Given the description of an element on the screen output the (x, y) to click on. 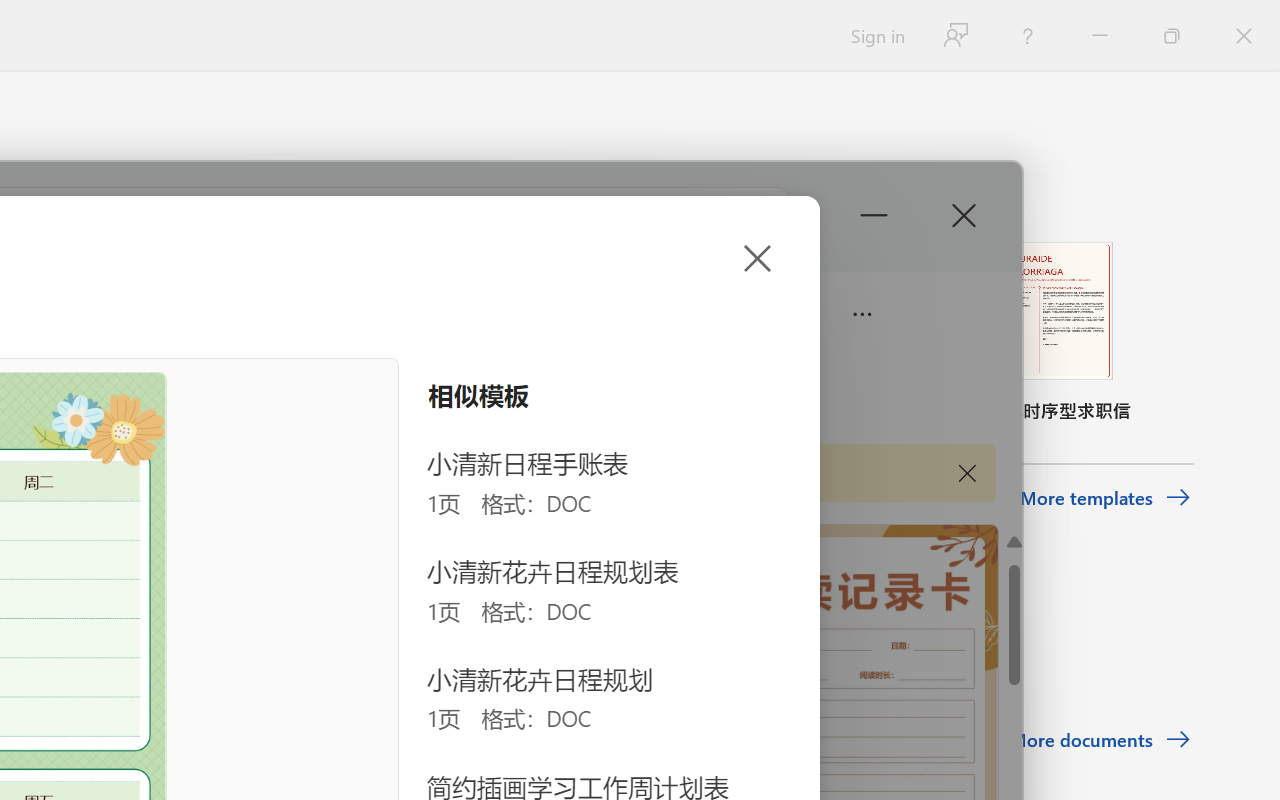
Sign in (875, 35)
